Given the description of an element on the screen output the (x, y) to click on. 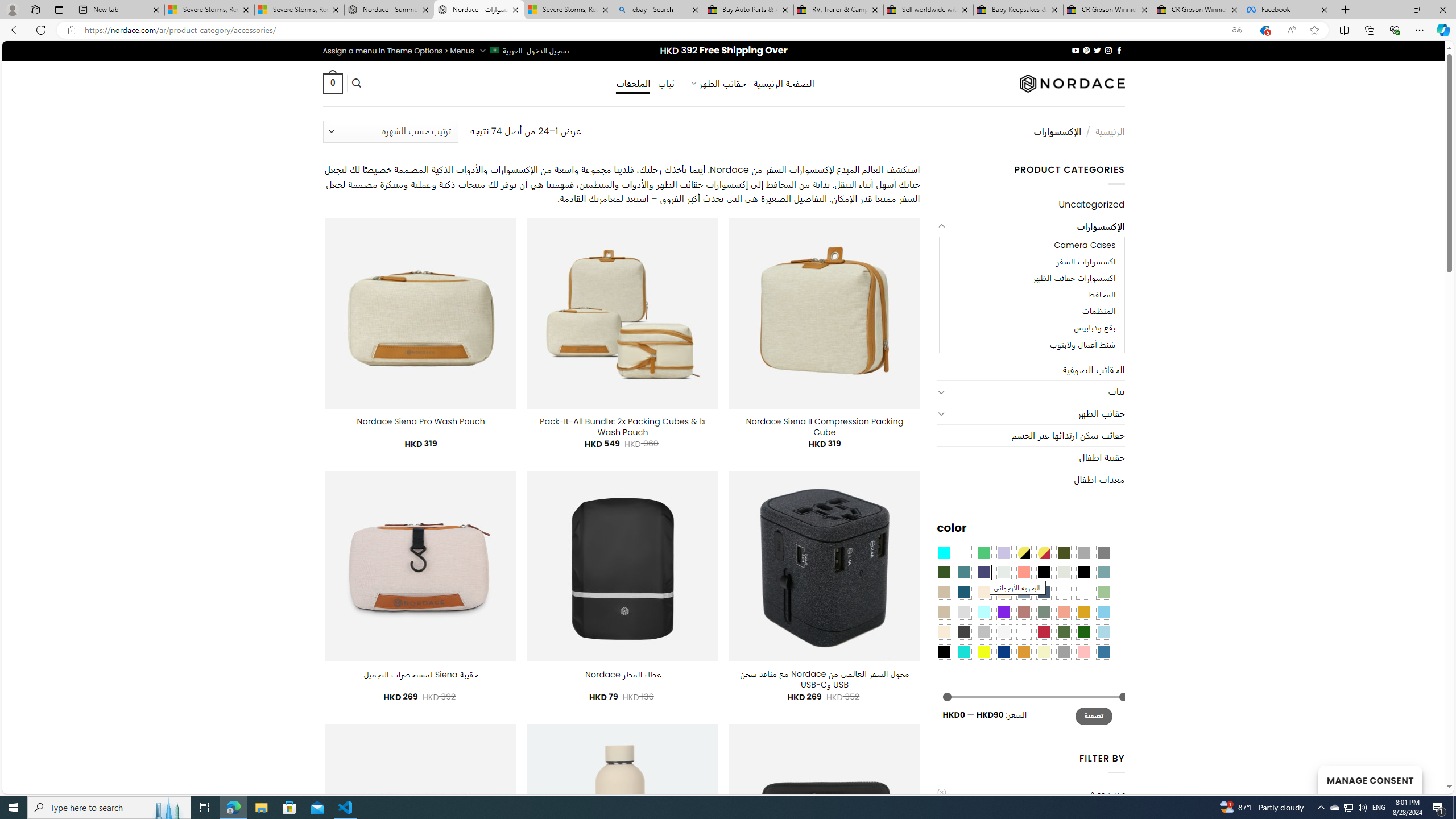
Emerald Green (983, 551)
Khaki (1082, 591)
Assign a menu in Theme Options > Menus (397, 50)
Uncategorized (1030, 204)
Black-Brown (1082, 572)
